Given the description of an element on the screen output the (x, y) to click on. 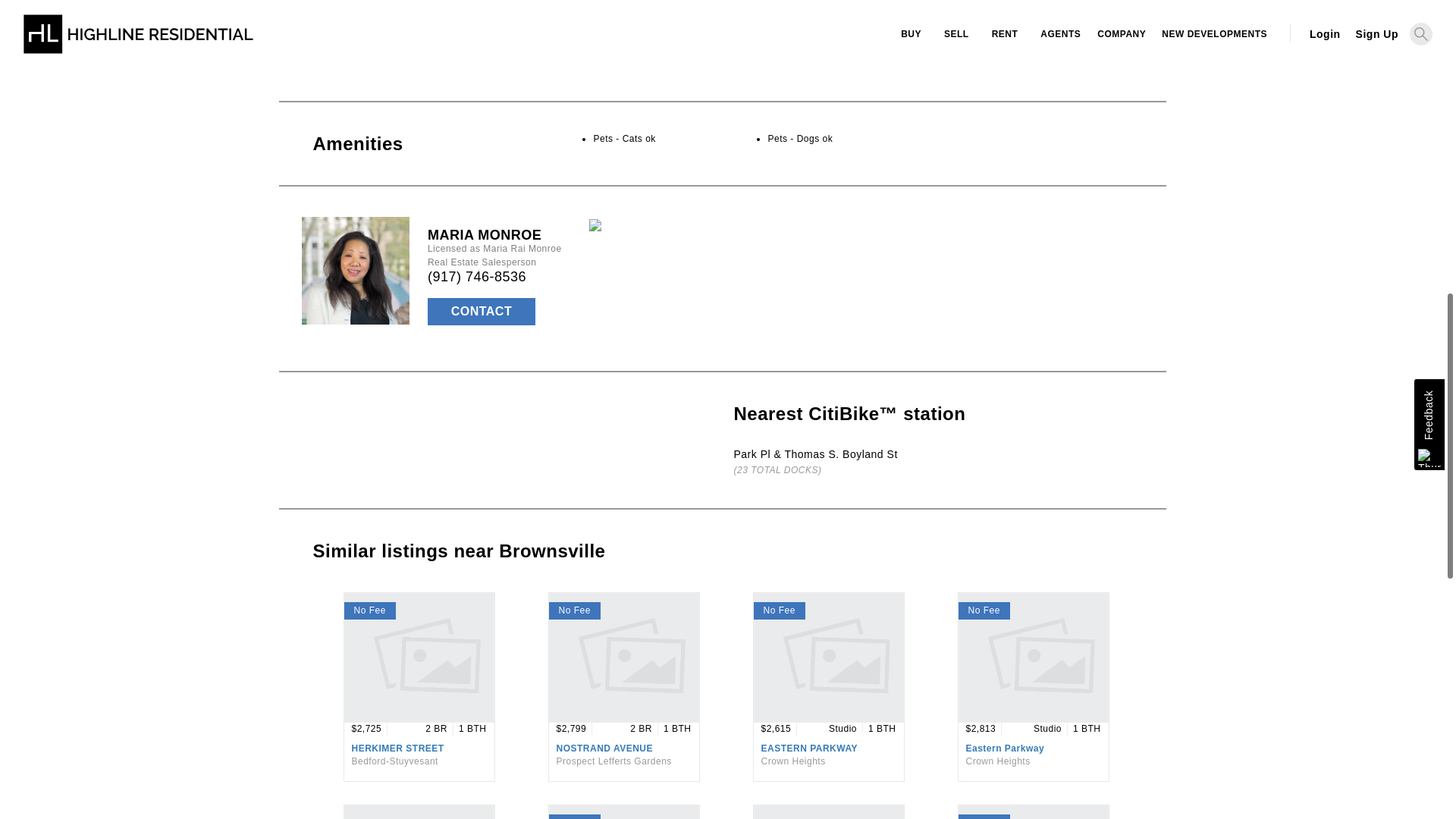
Show More (622, 54)
CONTACT (481, 311)
Share (361, 35)
MARIA MONROE (484, 234)
HERKIMER STREET (398, 747)
Share (327, 35)
Share (402, 36)
